Given the description of an element on the screen output the (x, y) to click on. 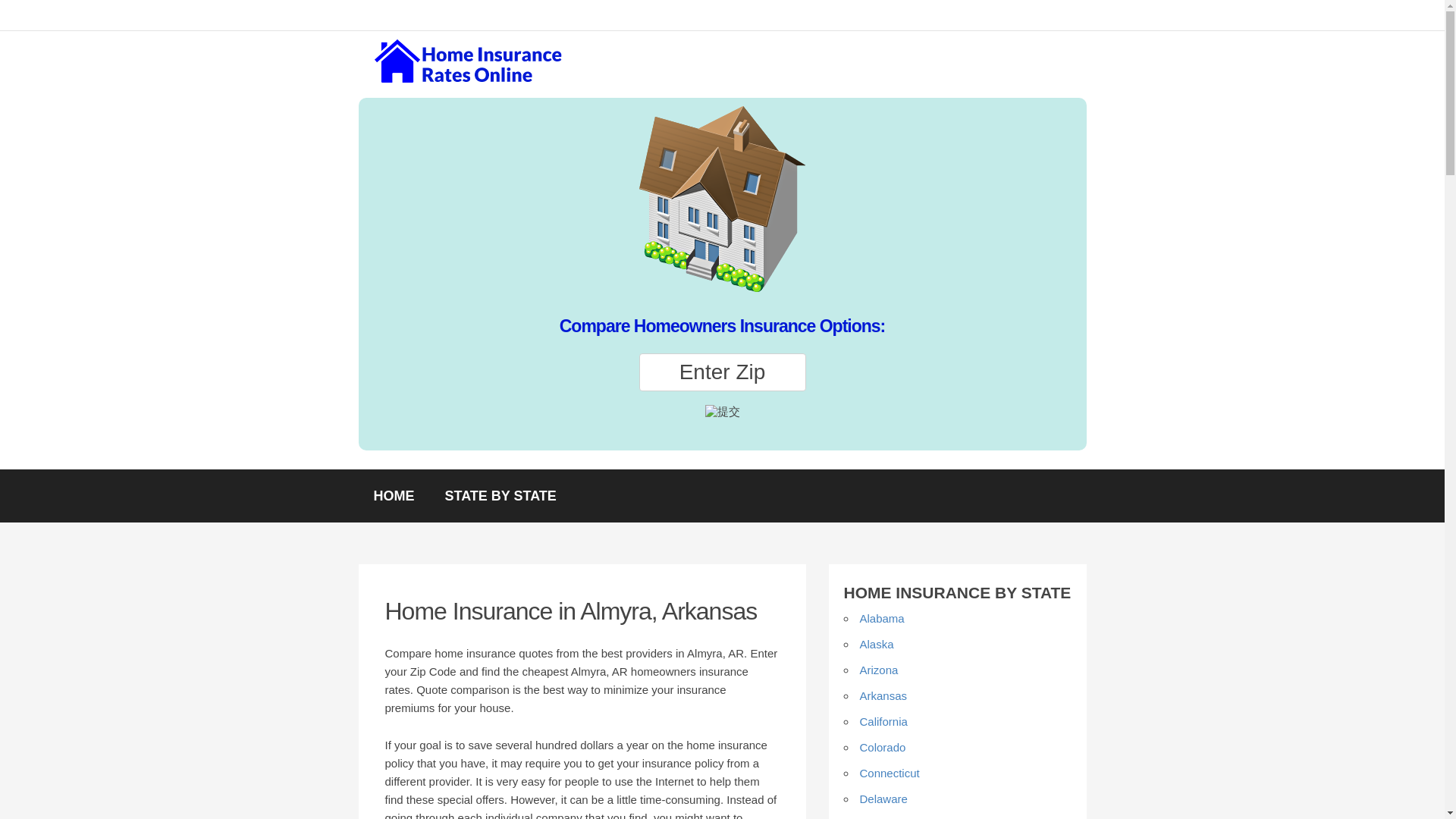
Enter Zip (722, 371)
Alaska (876, 644)
Delaware (883, 798)
STATE BY STATE (499, 495)
HOME (393, 495)
Colorado (882, 747)
Connecticut (890, 772)
California (883, 721)
Arizona (879, 669)
Alabama (882, 617)
Arkansas (883, 695)
